Given the description of an element on the screen output the (x, y) to click on. 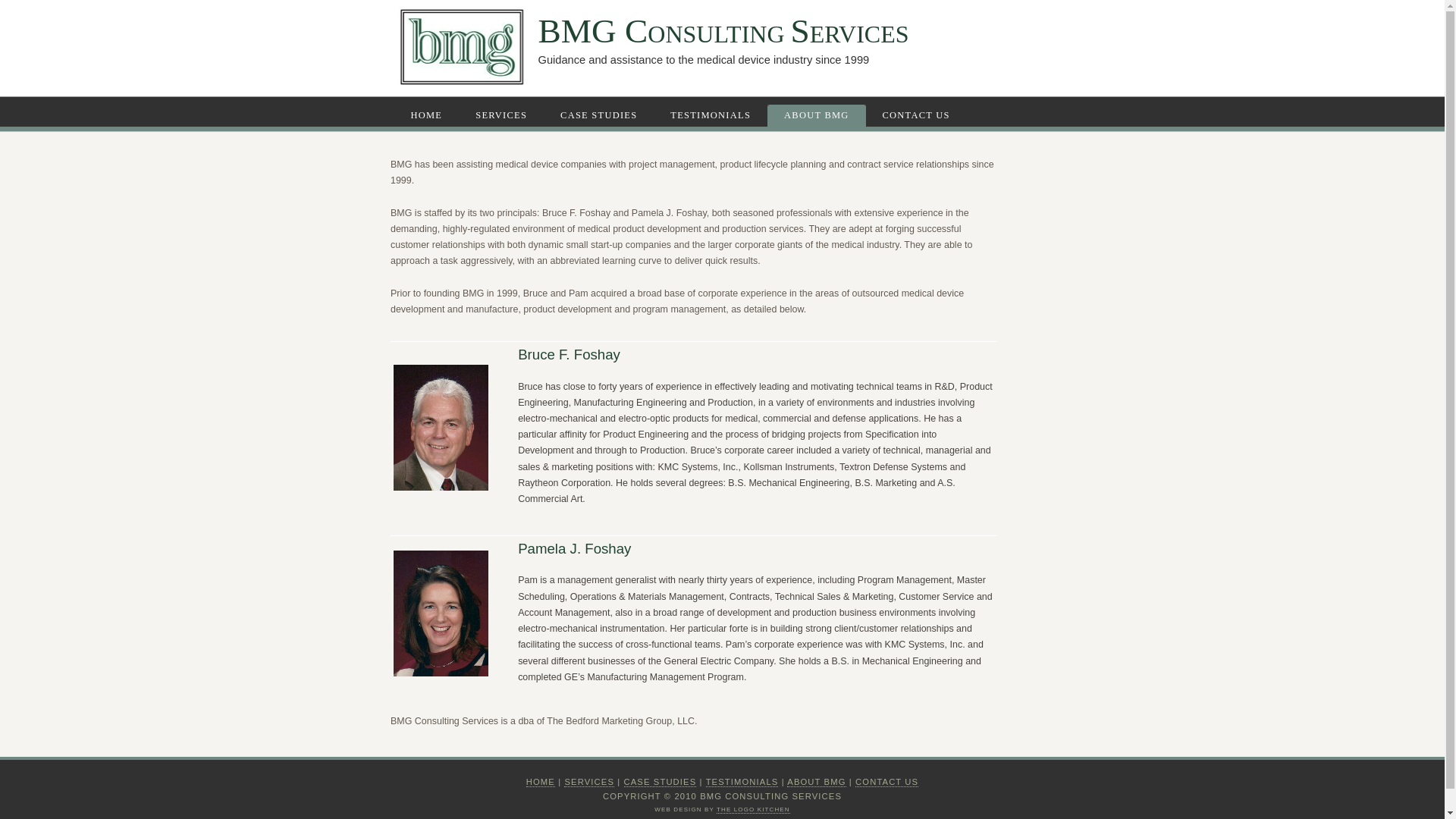
HOME (429, 115)
SERVICES (589, 782)
TESTIMONIALS (742, 782)
TESTIMONIALS (712, 115)
THE LOGO KITCHEN (753, 809)
CONTACT US (918, 115)
ABOUT BMG (817, 115)
CASE STUDIES (660, 782)
SERVICES (503, 115)
ABOUT BMG (816, 782)
